Given the description of an element on the screen output the (x, y) to click on. 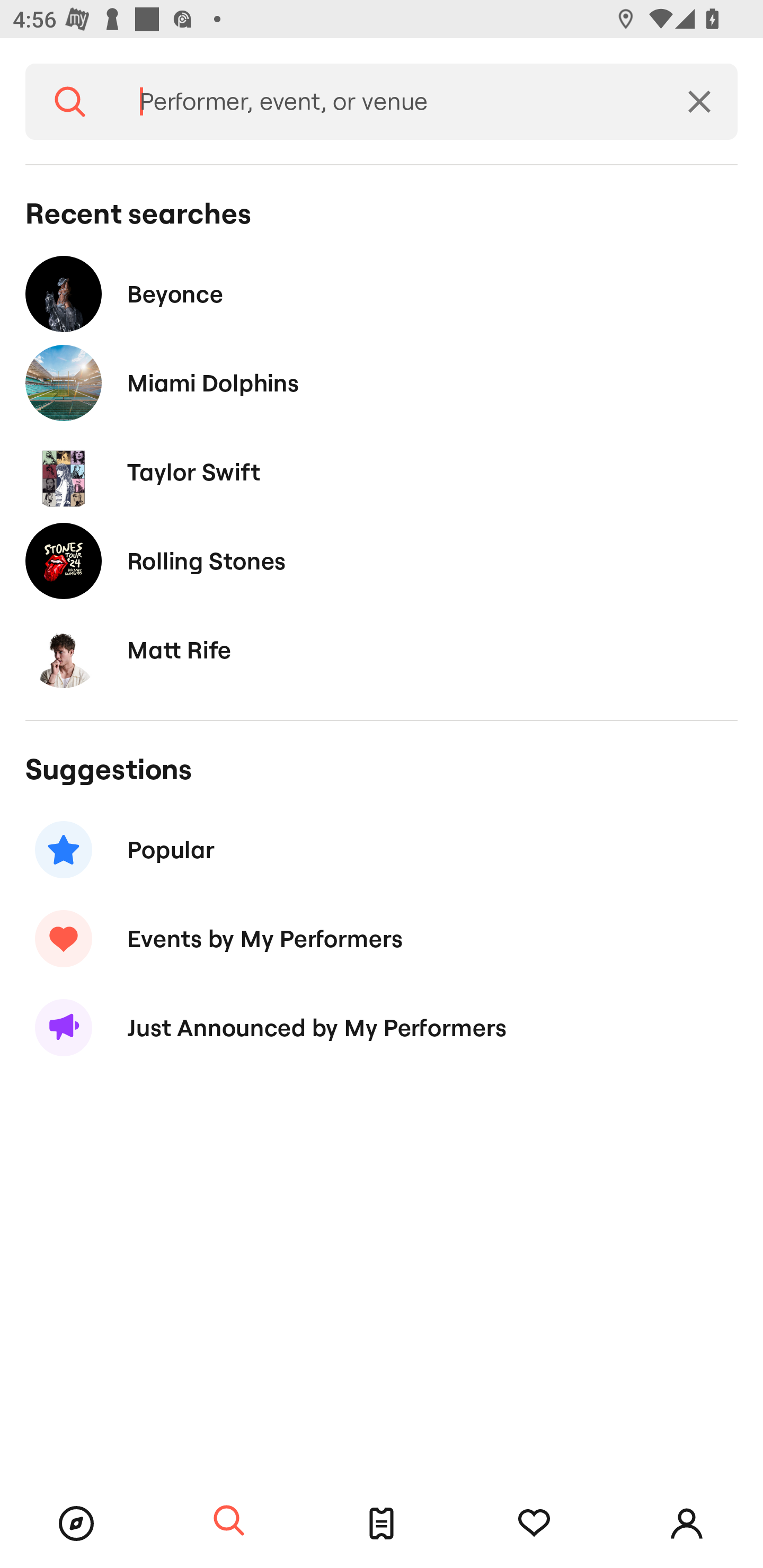
Search (69, 101)
Performer, event, or venue (387, 101)
Clear (699, 101)
Beyonce (381, 293)
Miami Dolphins (381, 383)
Taylor Swift (381, 471)
Rolling Stones (381, 560)
Matt Rife (381, 649)
Popular (381, 849)
Events by My Performers (381, 938)
Just Announced by My Performers (381, 1027)
Browse (76, 1523)
Search (228, 1521)
Tickets (381, 1523)
Tracking (533, 1523)
Account (686, 1523)
